Given the description of an element on the screen output the (x, y) to click on. 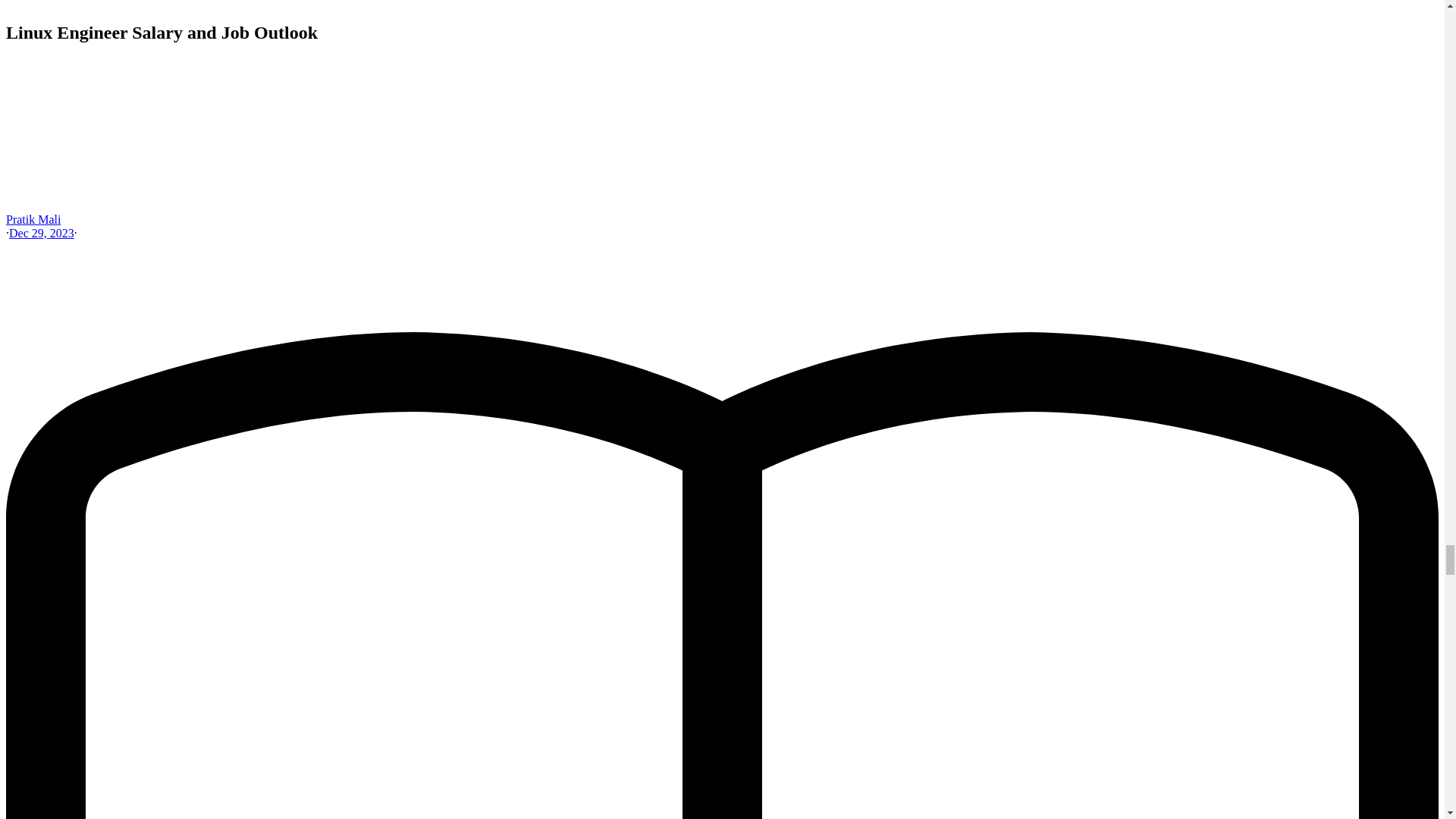
Dec 29, 2023 (41, 232)
Pratik Mali (33, 219)
